Given the description of an element on the screen output the (x, y) to click on. 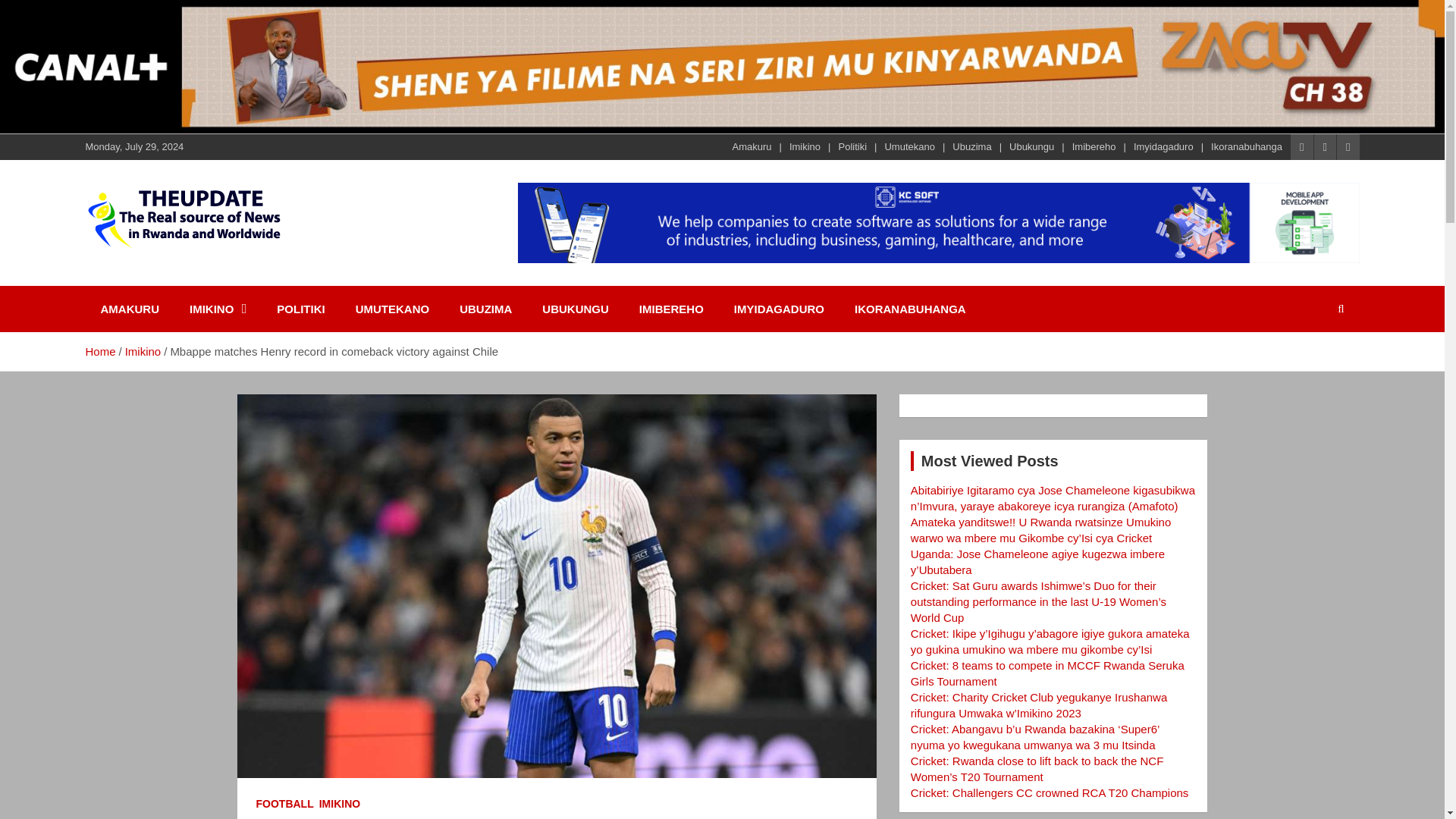
Ubuzima (971, 146)
AMAKURU (129, 308)
Imibereho (1093, 146)
Imyidagaduro (1163, 146)
POLITIKI (300, 308)
Ikoranabuhanga (1246, 146)
UBUZIMA (485, 308)
UBUKUNGU (575, 308)
IMYIDAGADURO (779, 308)
Home (99, 350)
Umutekano (908, 146)
IMIBEREHO (671, 308)
Imikino (805, 146)
Amakuru (751, 146)
UMUTEKANO (392, 308)
